Given the description of an element on the screen output the (x, y) to click on. 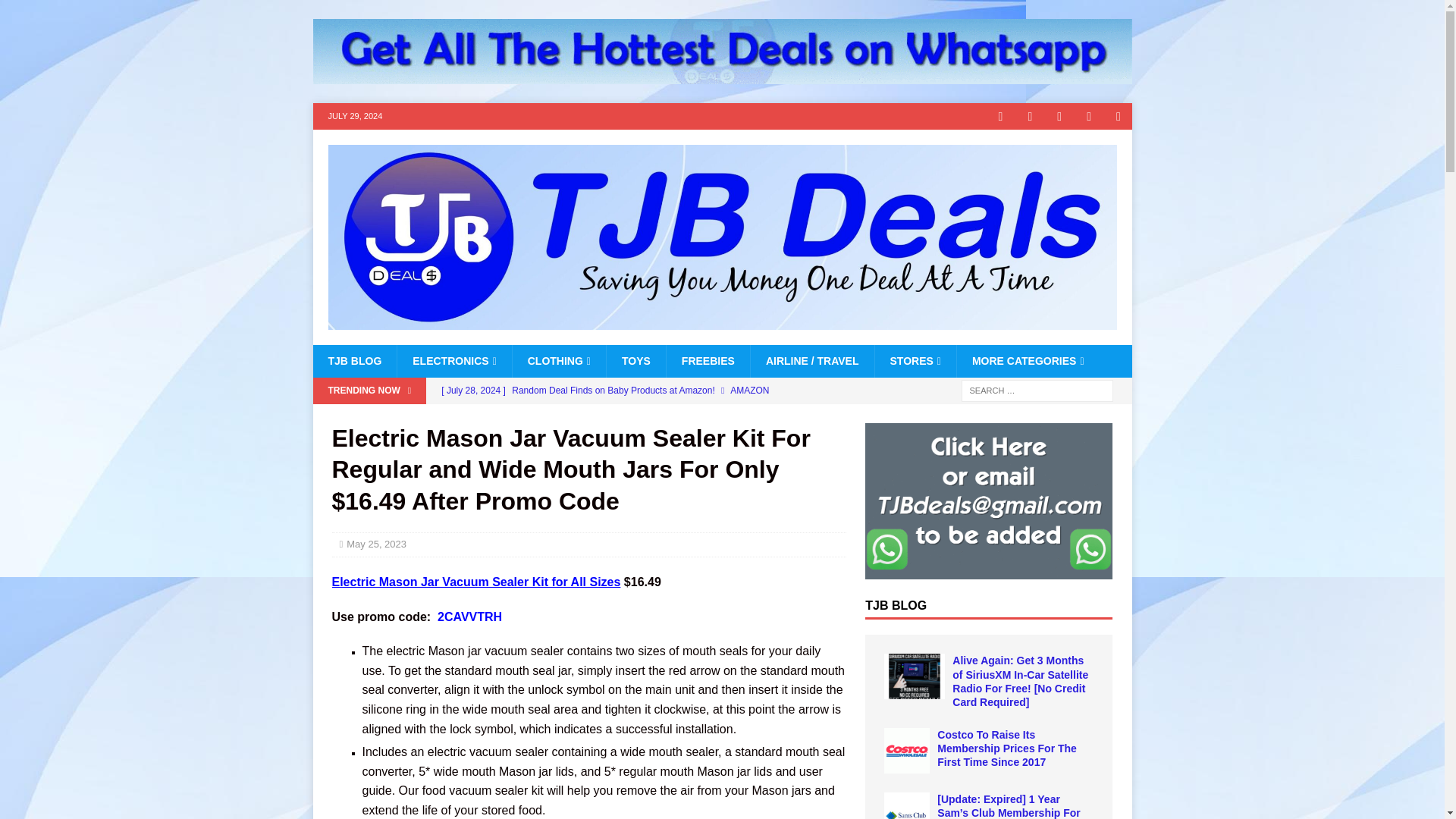
Random Deal Finds on Baby Products at Amazon! (638, 390)
